Given the description of an element on the screen output the (x, y) to click on. 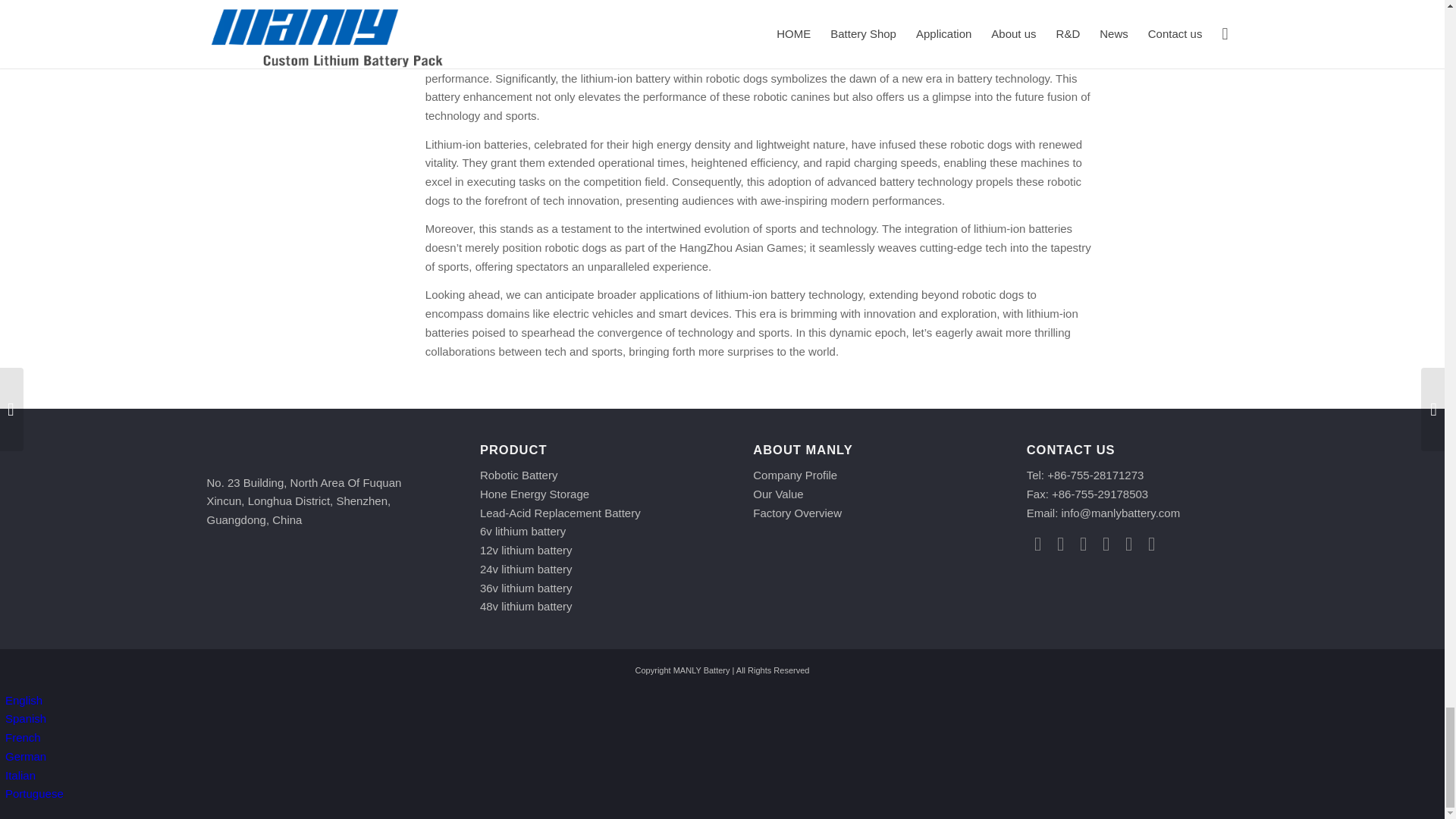
Skype (1129, 543)
Facebook (1037, 543)
Twitter (1060, 543)
Pinterest (1106, 543)
Linkedin (1082, 543)
Youtube (1151, 543)
